Given the description of an element on the screen output the (x, y) to click on. 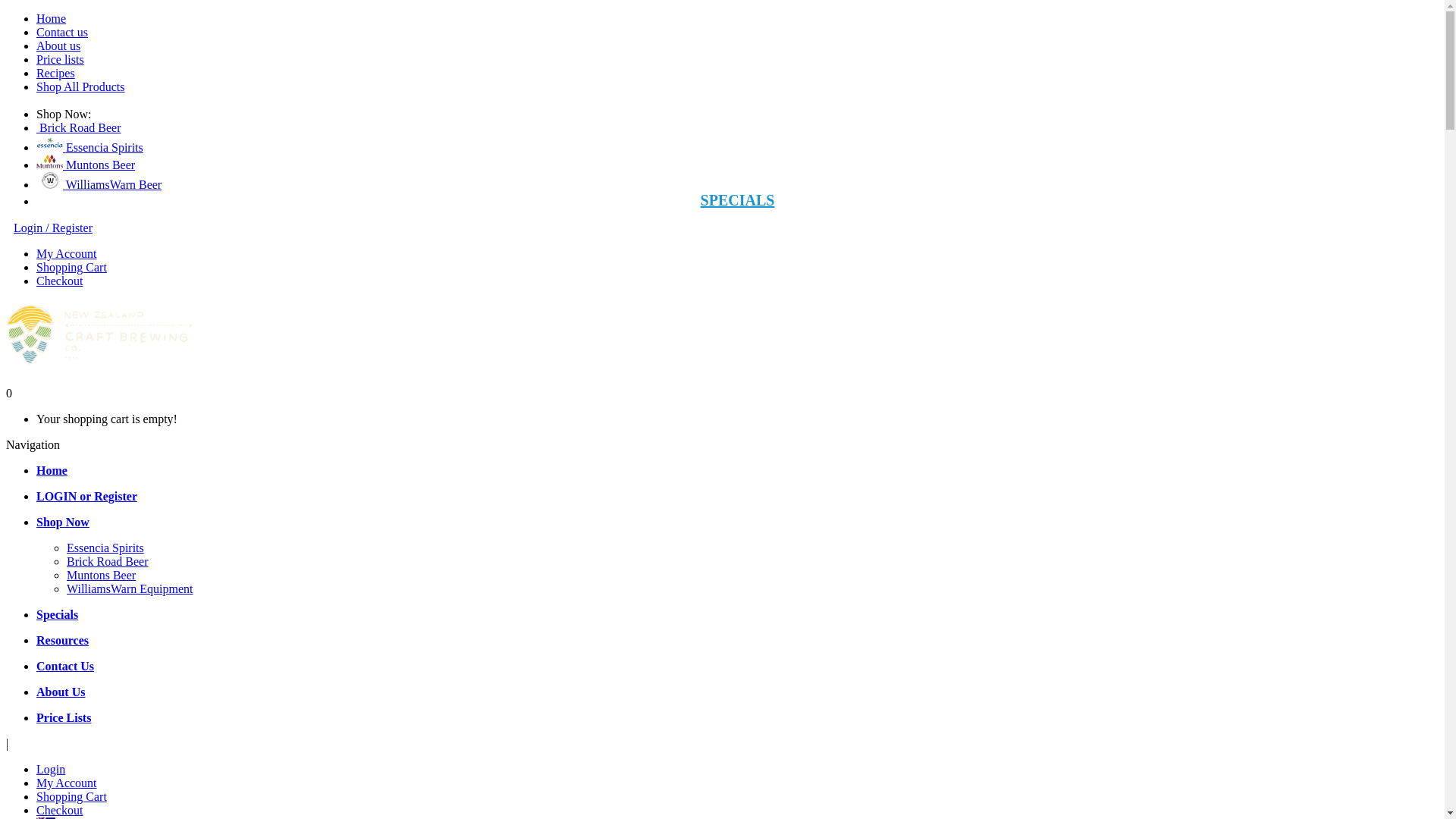
Contact Us Element type: text (65, 665)
Recipes Element type: text (55, 72)
Brick Road Beer Element type: text (78, 127)
Essencia Spirits Element type: text (105, 547)
Shopping Cart Element type: text (71, 796)
Essencia Spirits Element type: text (89, 147)
Checkout Element type: text (59, 809)
Specials Element type: text (57, 614)
SPECIALS Element type: text (737, 199)
Login / Register Element type: text (52, 227)
Home Element type: text (51, 470)
Checkout Element type: text (59, 280)
About us Element type: text (58, 45)
About Us Element type: text (60, 691)
Shopping Cart Element type: text (71, 266)
My Account Element type: text (66, 782)
Login Element type: text (50, 768)
Contact us Element type: text (61, 31)
Muntons Beer Element type: text (85, 164)
Price lists Element type: text (60, 59)
Shop All Products Element type: text (80, 86)
Brick Road Beer Element type: text (107, 561)
Home Element type: text (50, 18)
LOGIN or Register Element type: text (86, 495)
Muntons Beer Element type: text (100, 574)
NZ Craft Brewing Co (Aus) Element type: hover (99, 334)
WilliamsWarn Equipment Element type: text (129, 588)
WilliamsWarn Beer Element type: text (98, 184)
Shop Now Element type: text (62, 521)
Resources Element type: text (62, 639)
My Account Element type: text (66, 253)
Price Lists Element type: text (63, 717)
